Given the description of an element on the screen output the (x, y) to click on. 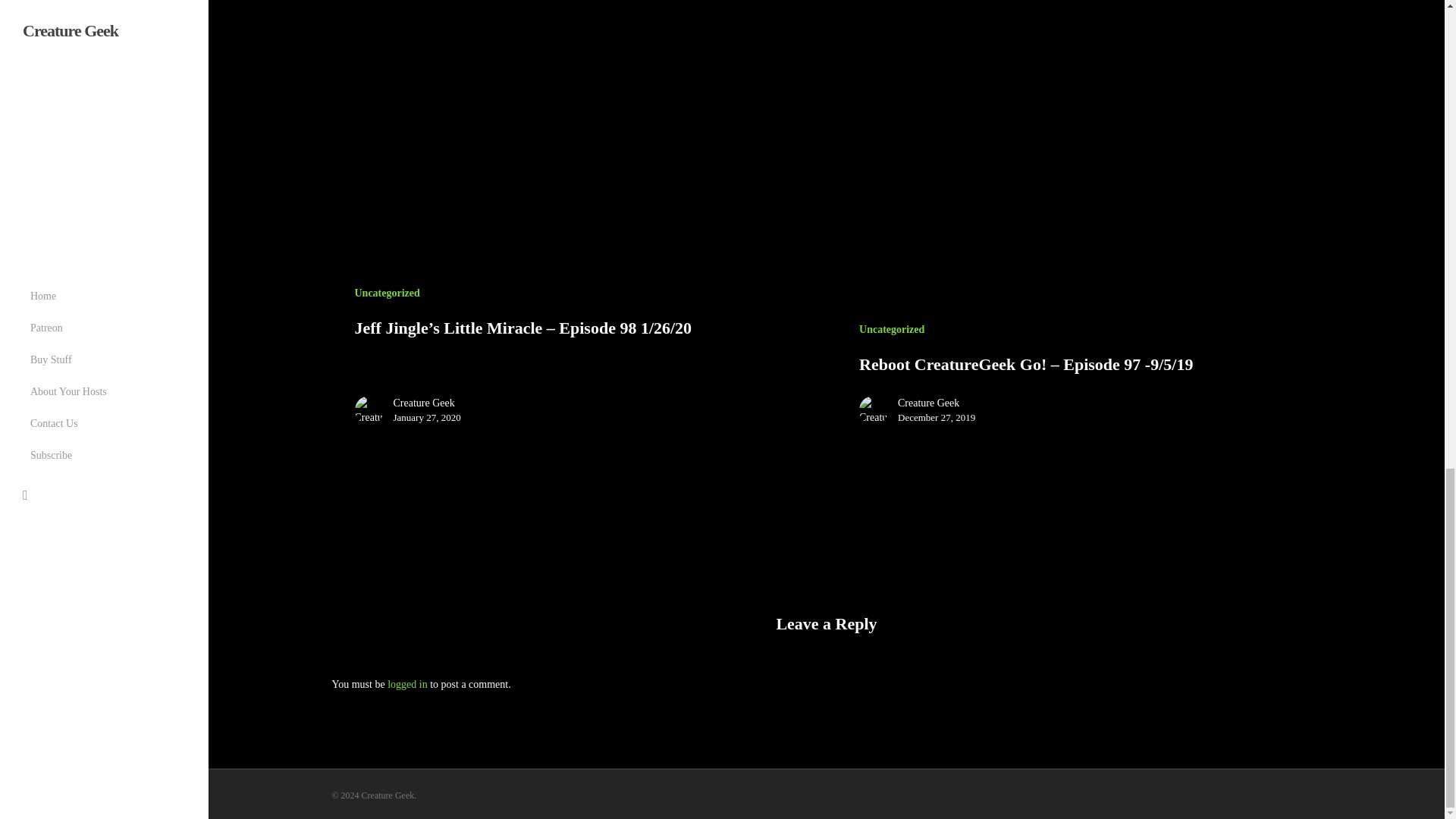
logged in (407, 684)
Uncategorized (891, 329)
Creature Geek (936, 403)
Uncategorized (387, 292)
Creature Geek (426, 403)
